Given the description of an element on the screen output the (x, y) to click on. 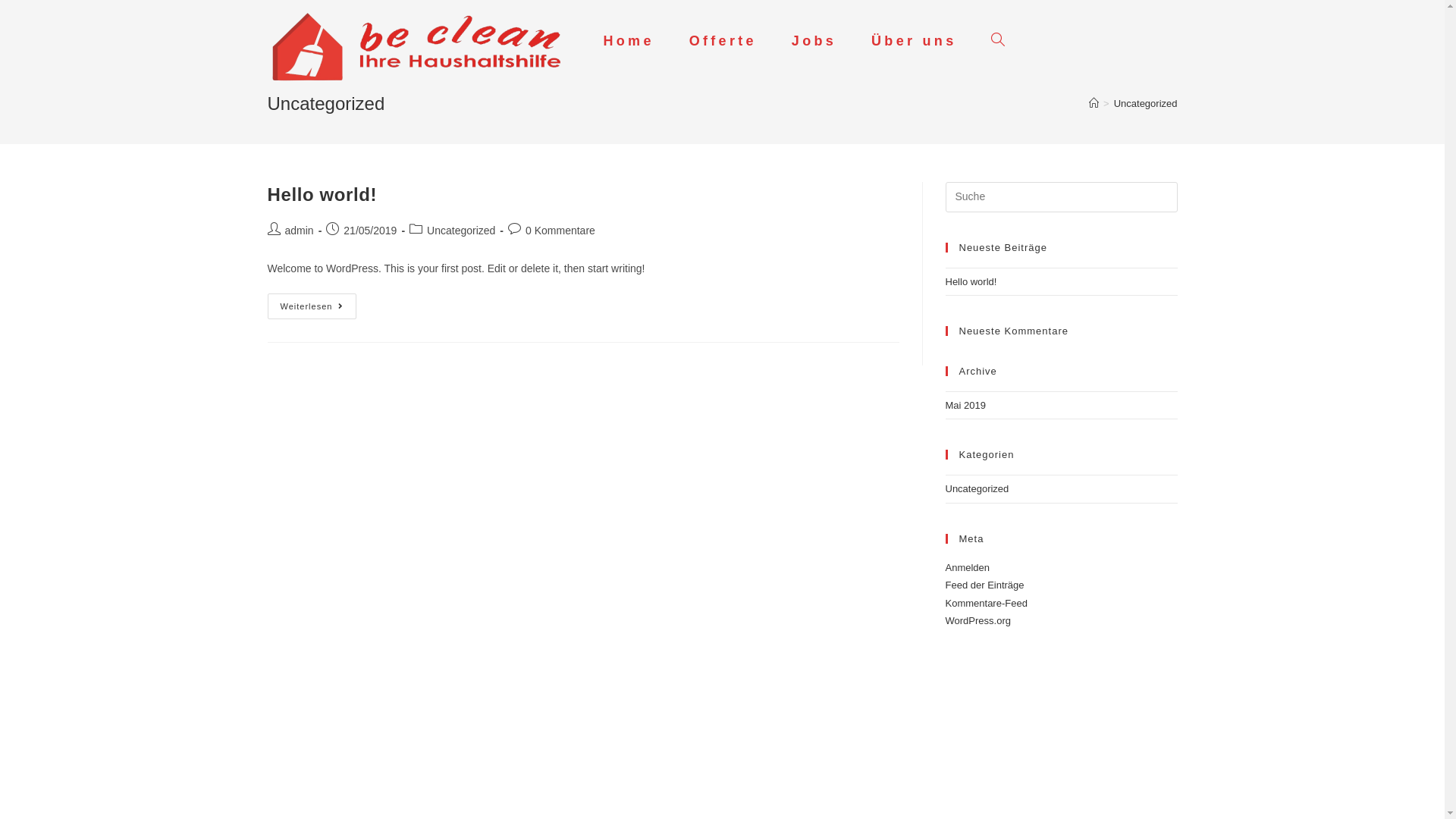
Jobs Element type: text (813, 40)
Hello world! Element type: text (970, 281)
Weiterlesen
Hello World! Element type: text (311, 306)
Hello world! Element type: text (321, 194)
Uncategorized Element type: text (1145, 103)
Uncategorized Element type: text (976, 488)
Home Element type: text (628, 40)
Anmelden Element type: text (966, 567)
0 Kommentare Element type: text (560, 230)
admin Element type: text (299, 230)
Kommentare-Feed Element type: text (985, 602)
Offerte Element type: text (722, 40)
WordPress.org Element type: text (977, 620)
Mai 2019 Element type: text (964, 405)
Uncategorized Element type: text (460, 230)
